Given the description of an element on the screen output the (x, y) to click on. 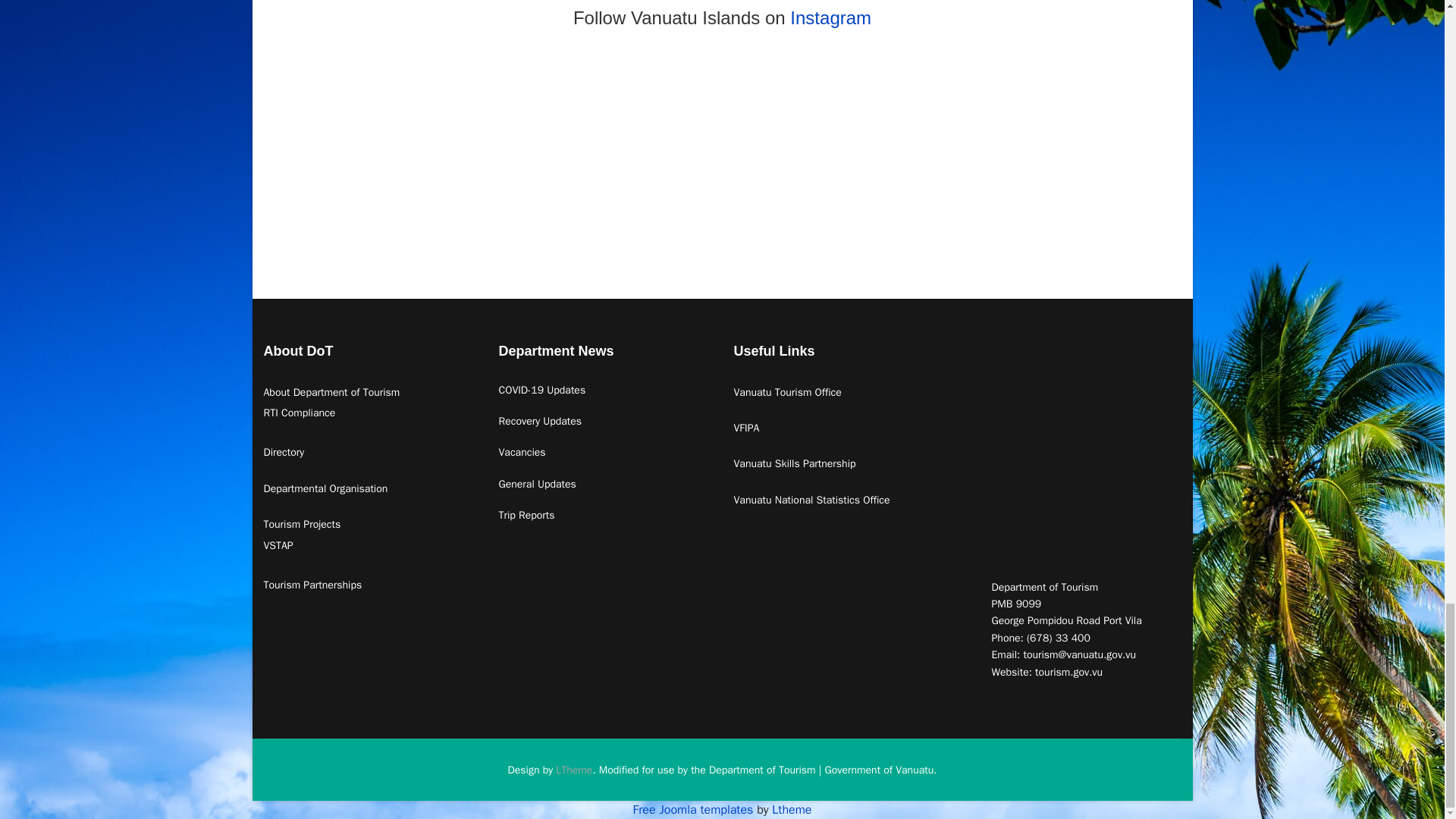
Free Joomla templates (693, 809)
Joomla template provider (574, 769)
Joomla template provider (790, 809)
